Given the description of an element on the screen output the (x, y) to click on. 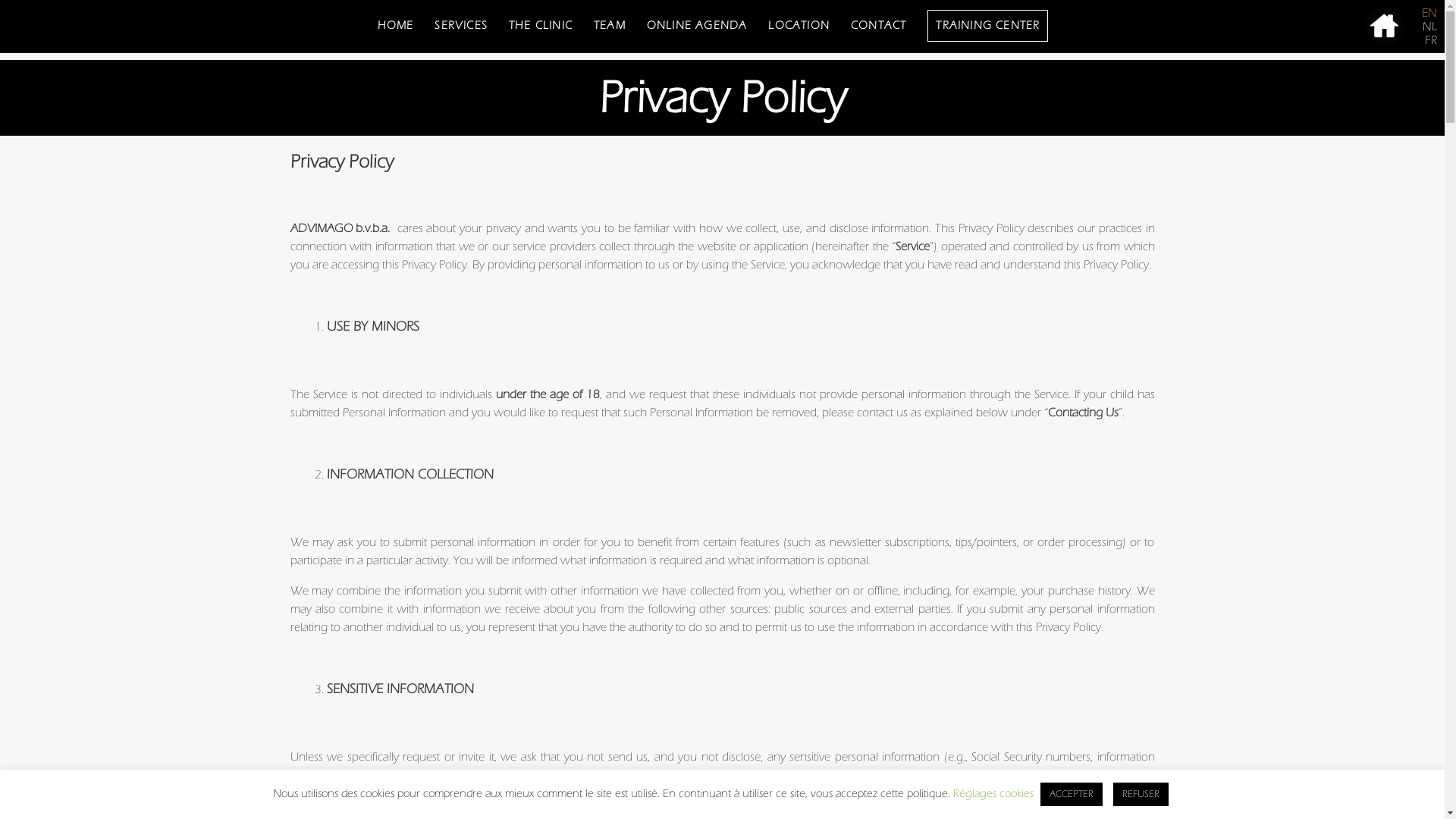
THE CLINIC Element type: text (540, 24)
SERVICES Element type: text (460, 24)
EN Element type: text (1429, 12)
ONLINE AGENDA Element type: text (696, 24)
ACCEPTER Element type: text (1071, 794)
LOCATION Element type: text (798, 24)
NL Element type: text (1429, 26)
TRAINING CENTER Element type: text (987, 24)
TEAM Element type: text (609, 24)
REFUSER Element type: text (1140, 794)
FR Element type: text (1430, 40)
HOME Element type: text (395, 24)
CONTACT Element type: text (878, 24)
